Given the description of an element on the screen output the (x, y) to click on. 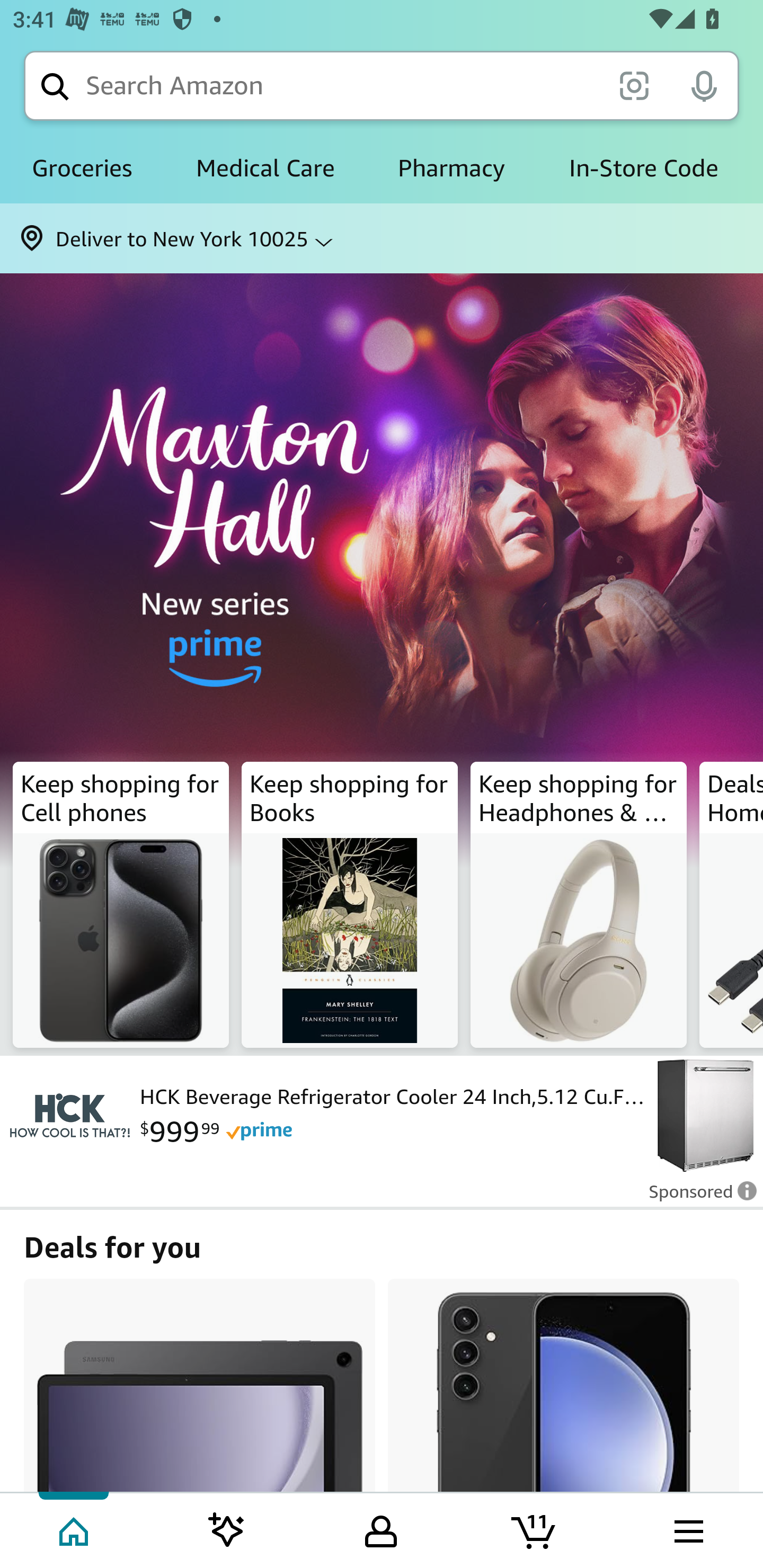
scan it (633, 85)
Groceries (82, 168)
Medical Care (265, 168)
Pharmacy (451, 168)
In-Store Code (643, 168)
Deliver to New York 10025 ⌵ (381, 237)
Keep shopping for Books Keep shopping for Books (349, 904)
Leave feedback on Sponsored ad Sponsored  (696, 1196)
Home Tab 1 of 5 (75, 1529)
Inspire feed Tab 2 of 5 (227, 1529)
Your Amazon.com Tab 3 of 5 (380, 1529)
Cart 11 items Tab 4 of 5 11 (534, 1529)
